Given the description of an element on the screen output the (x, y) to click on. 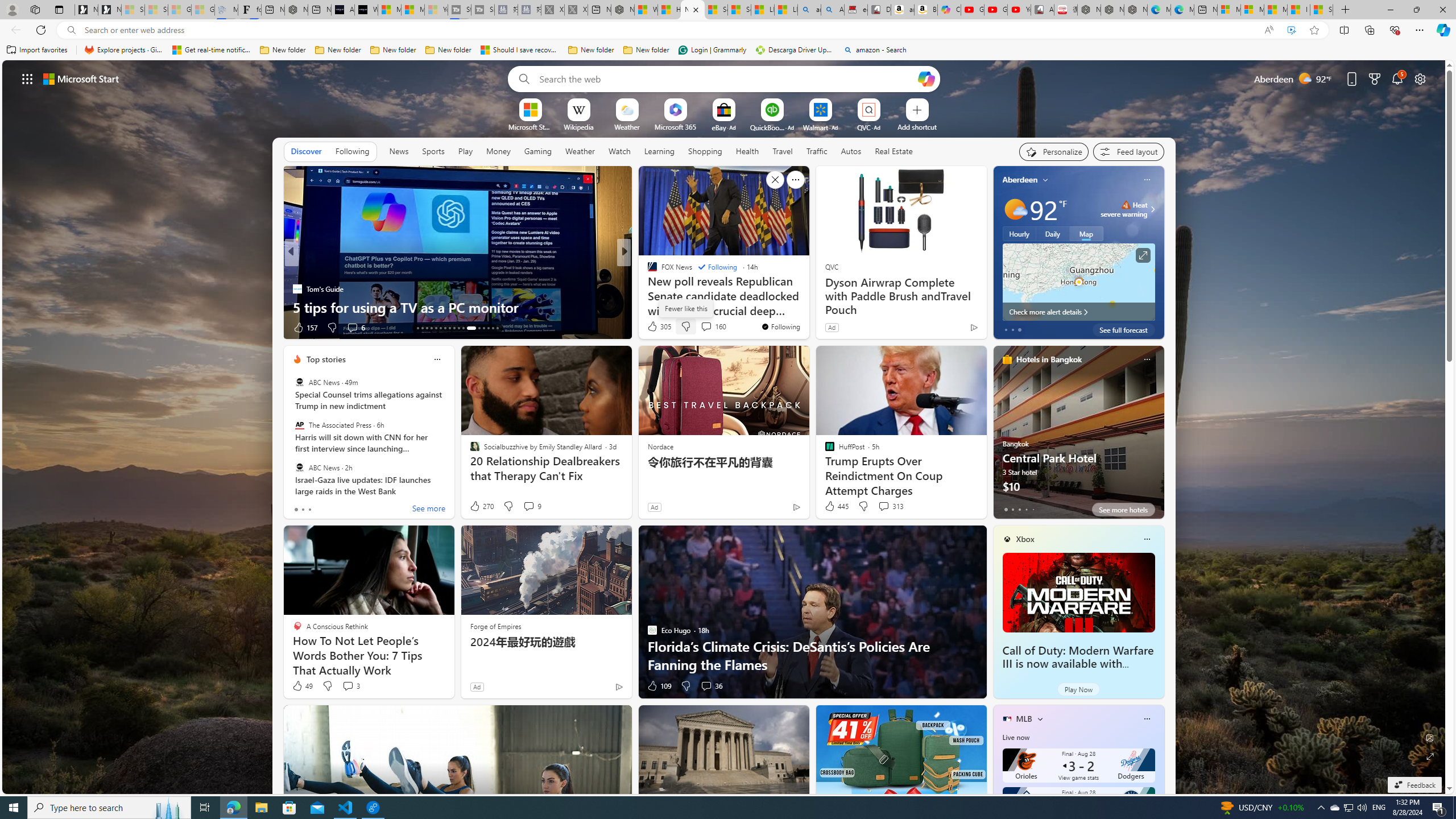
Refresh (40, 29)
Wikipedia (578, 126)
Microsoft Start Sports (389, 9)
157 Like (304, 327)
Close (1442, 9)
Import favorites (36, 49)
View comments 61 Comment (6, 327)
AutomationID: tab-19 (444, 328)
Class: control (27, 78)
AutomationID: tab-24 (471, 328)
Health (746, 151)
News (398, 151)
